Given the description of an element on the screen output the (x, y) to click on. 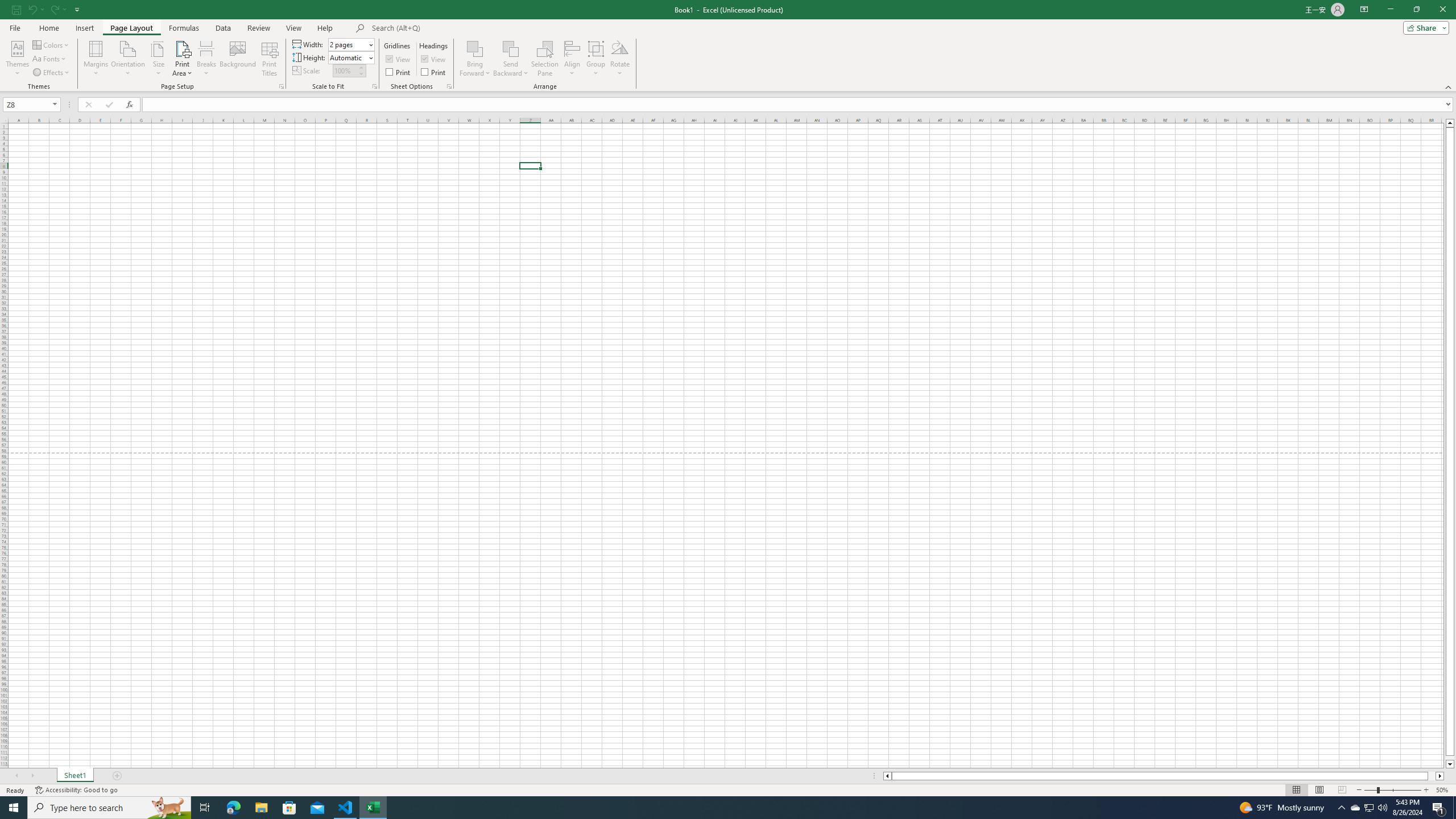
Orientation (128, 58)
Sheet Options (449, 85)
